Given the description of an element on the screen output the (x, y) to click on. 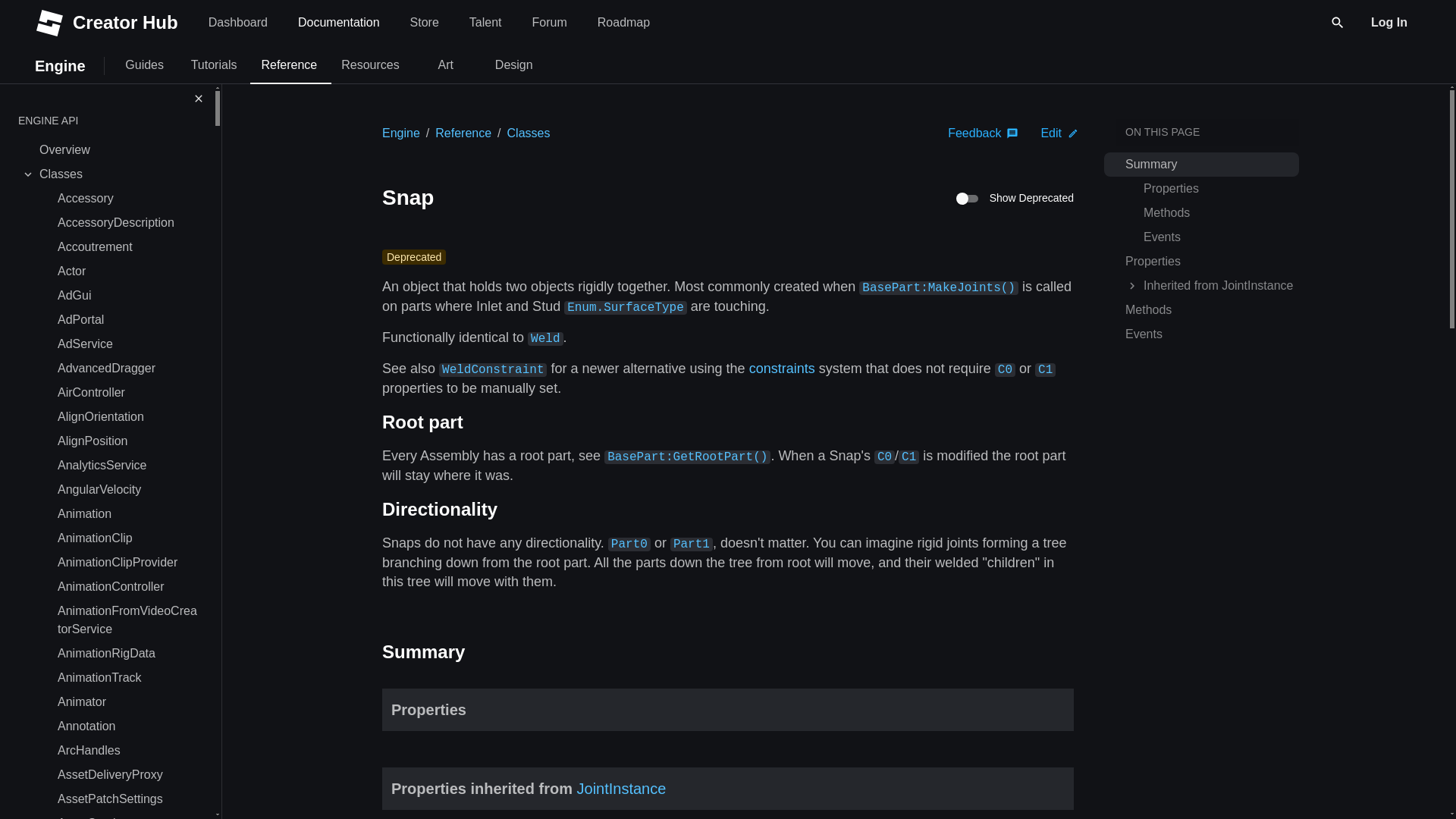
AnimationFromVideoCreatorService (127, 619)
AirController (127, 392)
Creator Hub (110, 22)
Animation (127, 514)
AccessoryDescription (127, 222)
Overview (118, 150)
AlignOrientation (127, 416)
Annotation (127, 726)
Design (514, 63)
AnimationTrack (127, 677)
Dashboard (237, 22)
Roadmap (623, 22)
Forum (549, 22)
AnimationRigData (127, 653)
